Given the description of an element on the screen output the (x, y) to click on. 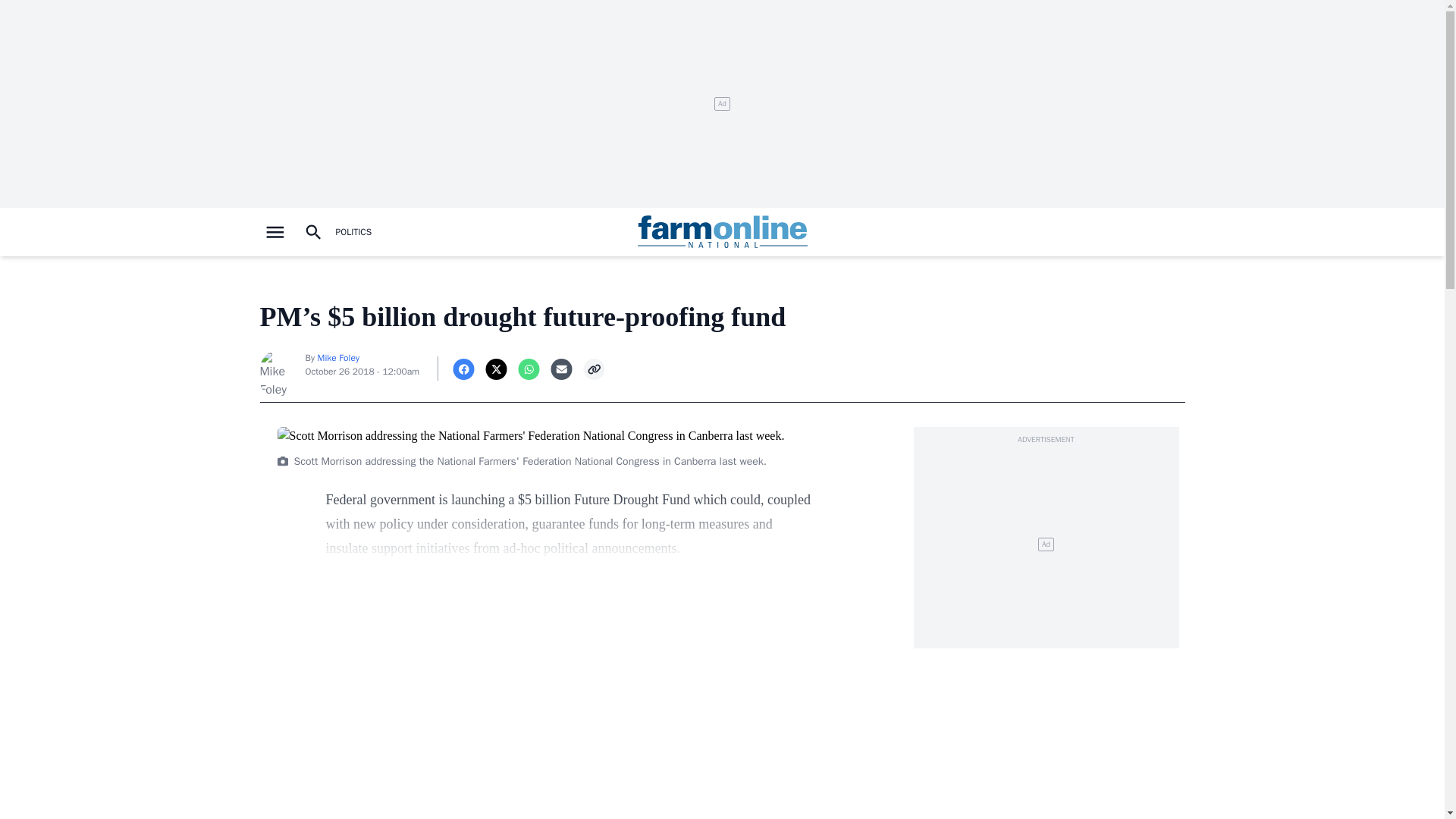
POLITICS (353, 232)
